Given the description of an element on the screen output the (x, y) to click on. 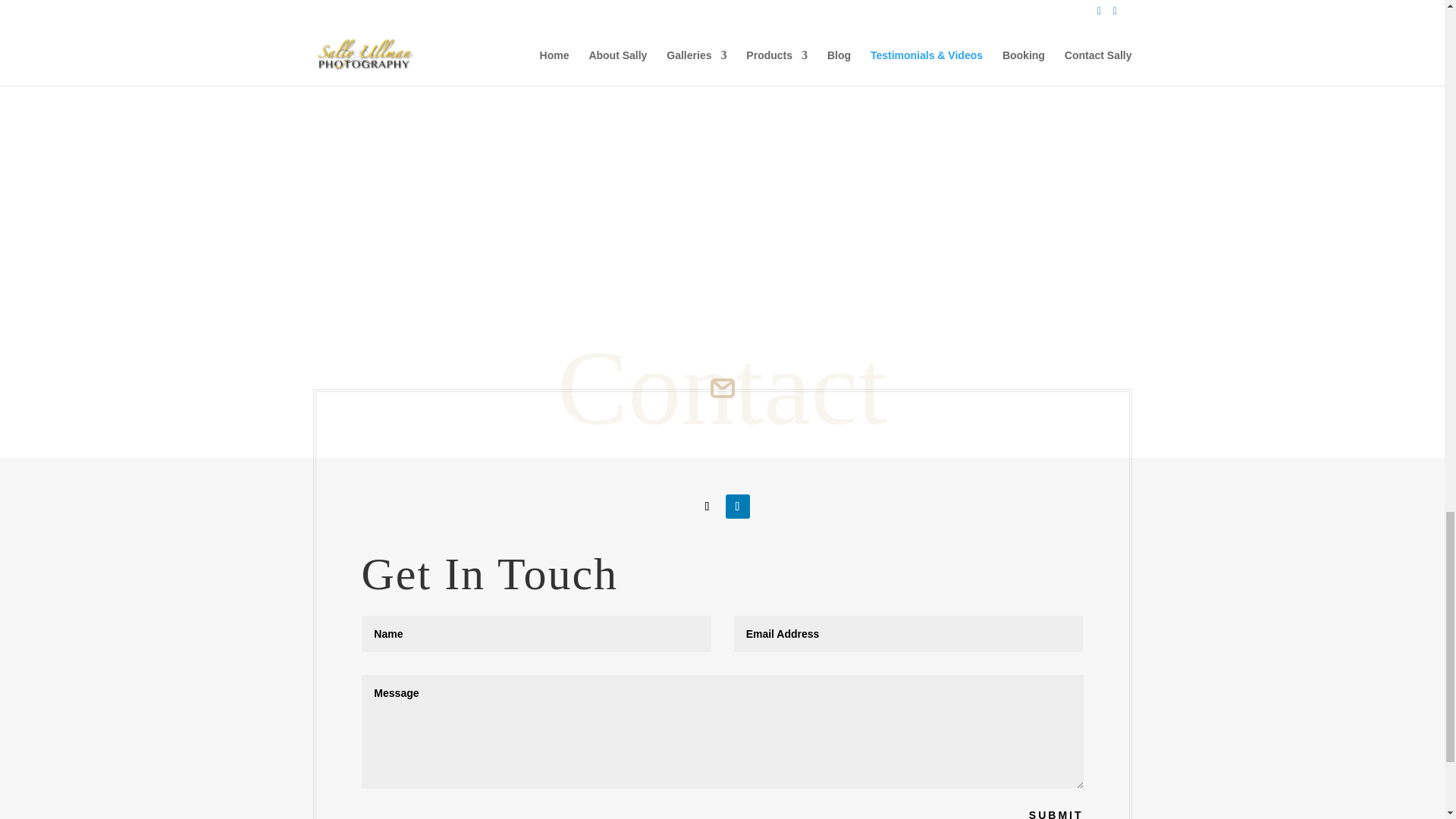
Follow on LinkedIn (737, 506)
wedding-photographer-icon-8-gold (721, 387)
Follow on Facebook (706, 506)
